Given the description of an element on the screen output the (x, y) to click on. 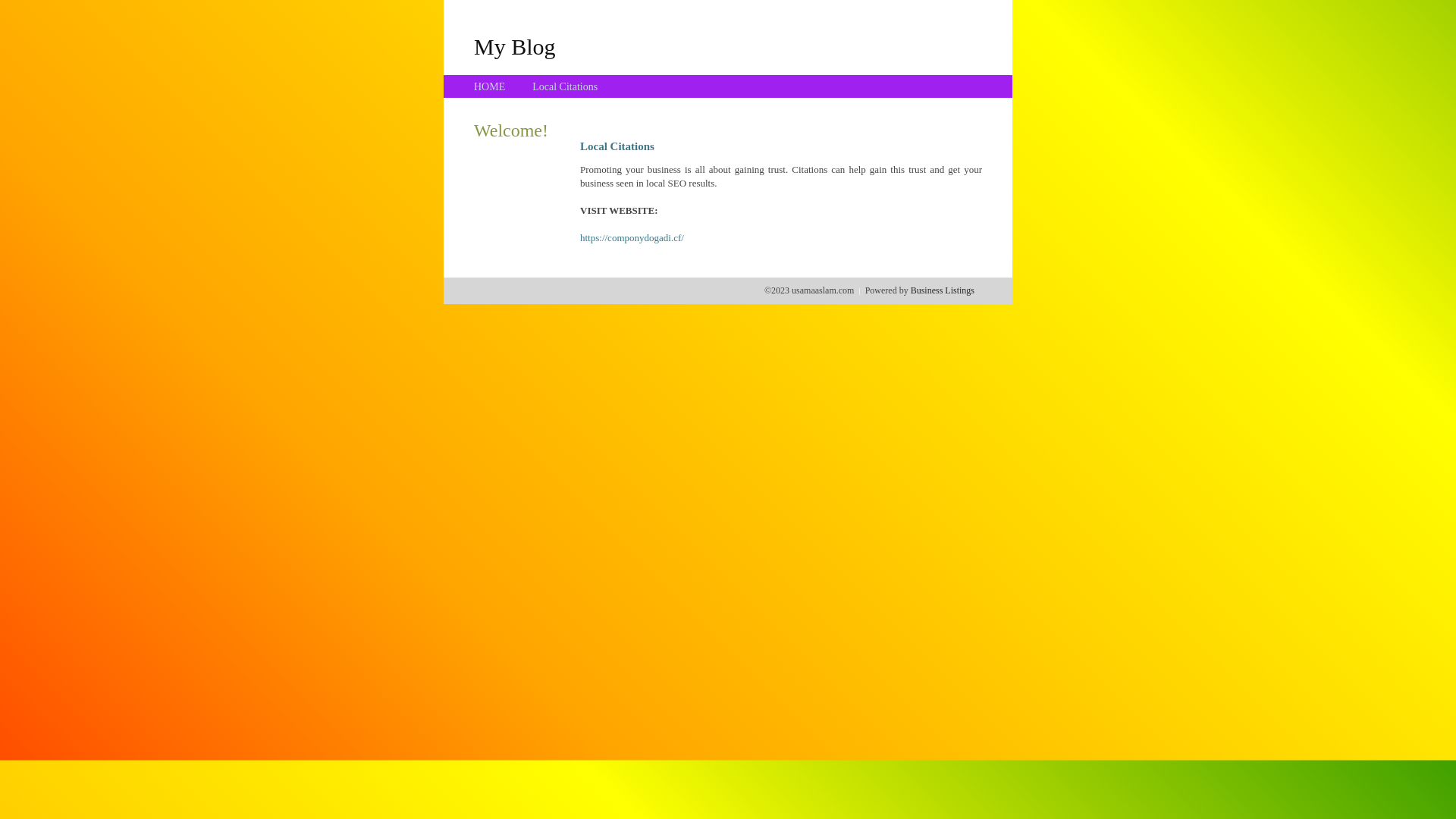
https://componydogadi.cf/ Element type: text (632, 237)
My Blog Element type: text (514, 46)
HOME Element type: text (489, 86)
Local Citations Element type: text (564, 86)
Business Listings Element type: text (942, 290)
